Given the description of an element on the screen output the (x, y) to click on. 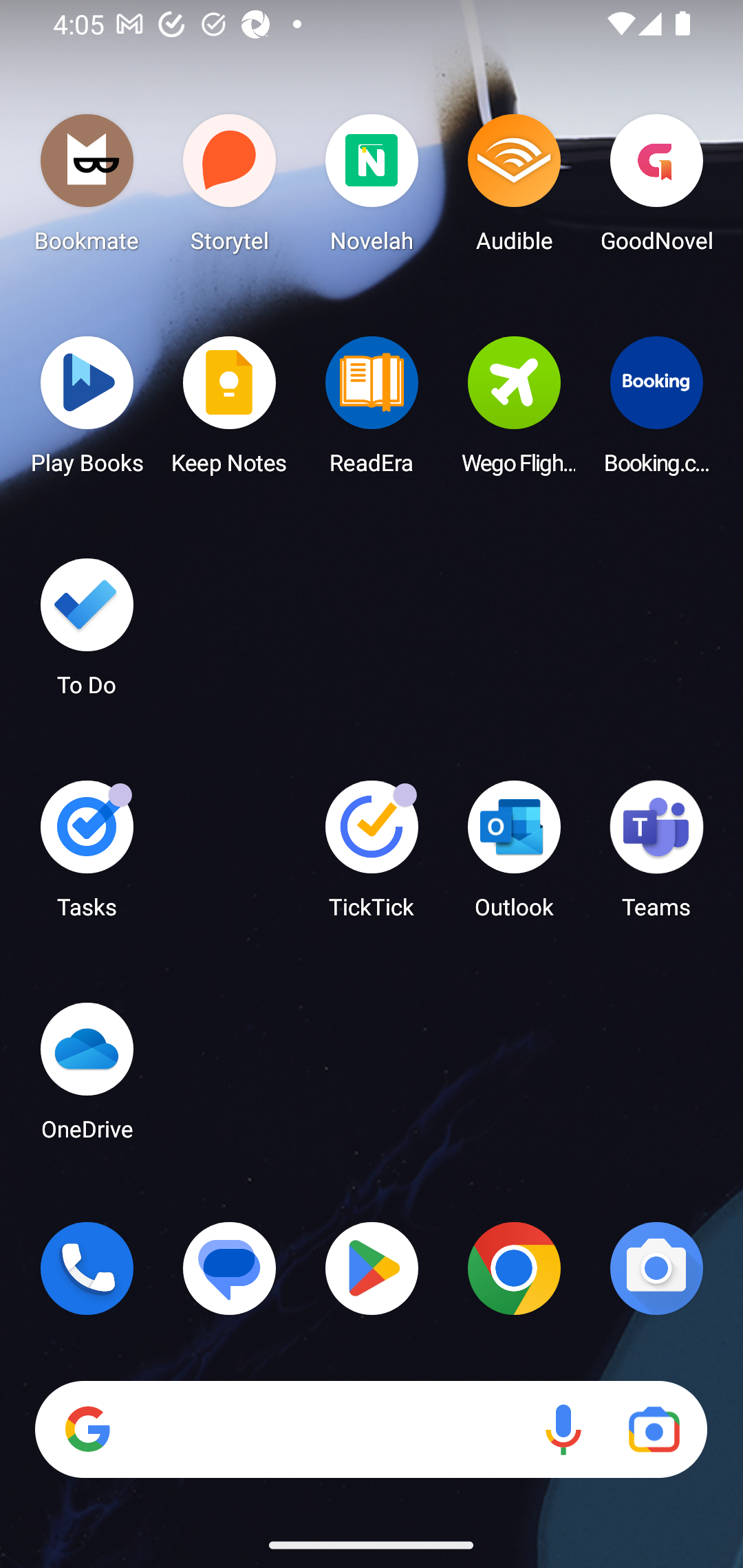
Bookmate (86, 188)
Storytel (229, 188)
Novelah (371, 188)
Audible (513, 188)
GoodNovel (656, 188)
Play Books (86, 410)
Keep Notes (229, 410)
ReadEra (371, 410)
Wego Flights & Hotels (513, 410)
Booking.com (656, 410)
To Do (86, 633)
Tasks Tasks has 1 notification (86, 854)
TickTick TickTick has 3 notifications (371, 854)
Outlook (513, 854)
Teams (656, 854)
OneDrive (86, 1076)
Phone (86, 1268)
Messages (229, 1268)
Play Store (371, 1268)
Chrome (513, 1268)
Camera (656, 1268)
Voice search (562, 1429)
Google Lens (653, 1429)
